Given the description of an element on the screen output the (x, y) to click on. 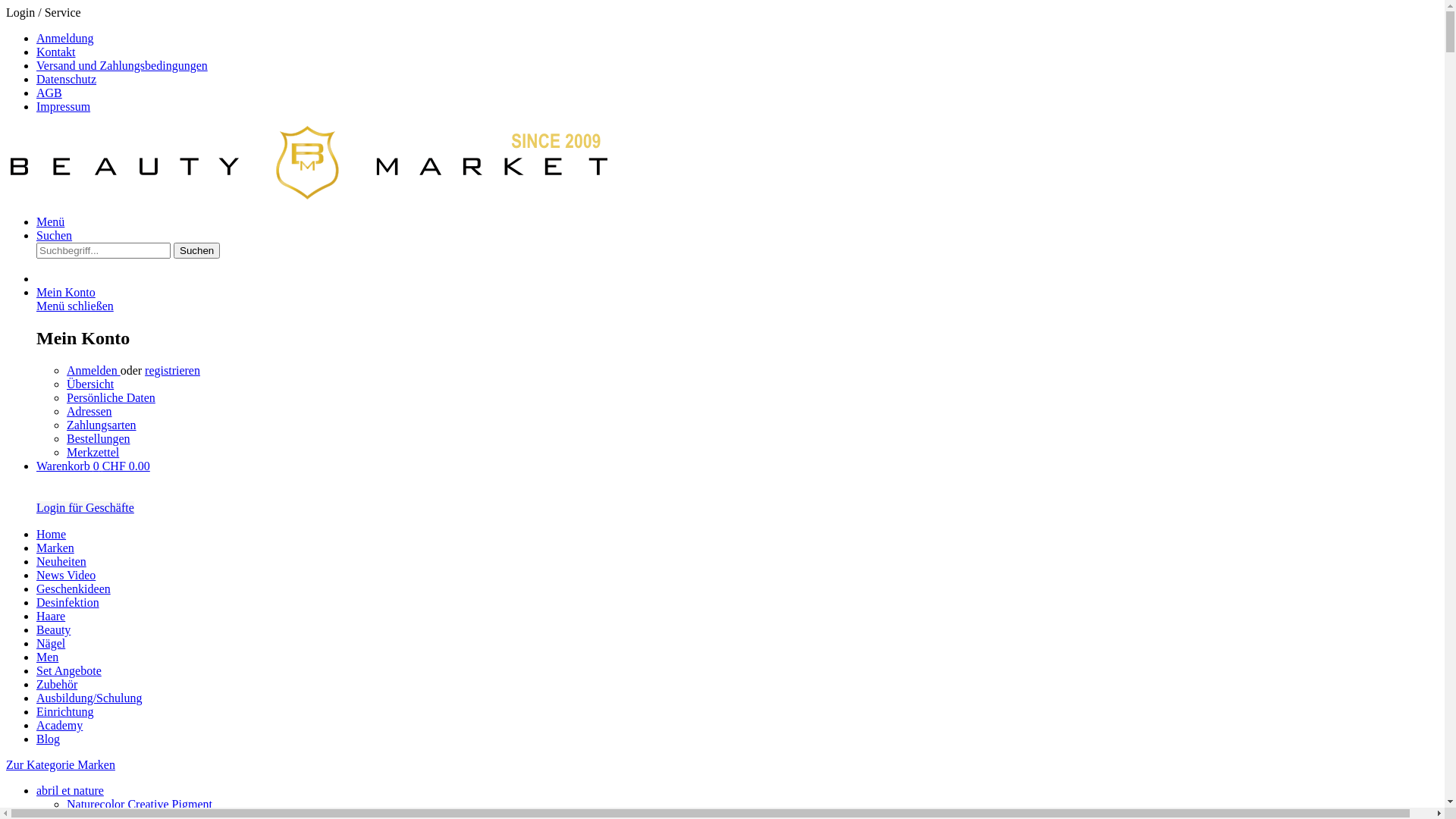
Warenkorb 0 CHF 0.00 Element type: text (93, 465)
Versand und Zahlungsbedingungen Element type: text (121, 65)
Ausbildung/Schulung Element type: text (89, 697)
Marken Element type: text (55, 547)
Anmelden Element type: text (93, 370)
Men Element type: text (47, 656)
Adressen Element type: text (89, 410)
News Video Element type: text (65, 574)
Suchen Element type: text (196, 250)
Merkzettel Element type: text (92, 451)
Academy Element type: text (59, 724)
Bestellungen Element type: text (98, 438)
Blog Element type: text (47, 738)
Kontakt Element type: text (55, 51)
Set Angebote Element type: text (68, 670)
Naturecolor Creative Pigment Element type: text (139, 803)
Desinfektion Element type: text (67, 602)
registrieren Element type: text (172, 370)
Beauty Element type: text (53, 629)
Home Element type: text (50, 533)
Suchen Element type: text (54, 235)
Anmeldung Element type: text (65, 37)
Haare Element type: text (50, 615)
AGB Element type: text (49, 92)
Mein Konto Element type: text (65, 291)
Zahlungsarten Element type: text (101, 424)
Datenschutz Element type: text (66, 78)
Zur Kategorie Marken Element type: text (60, 764)
Neuheiten Element type: text (61, 561)
Geschenkideen Element type: text (73, 588)
Einrichtung Element type: text (65, 711)
abril et nature Element type: text (69, 790)
Impressum Element type: text (63, 106)
